Given the description of an element on the screen output the (x, y) to click on. 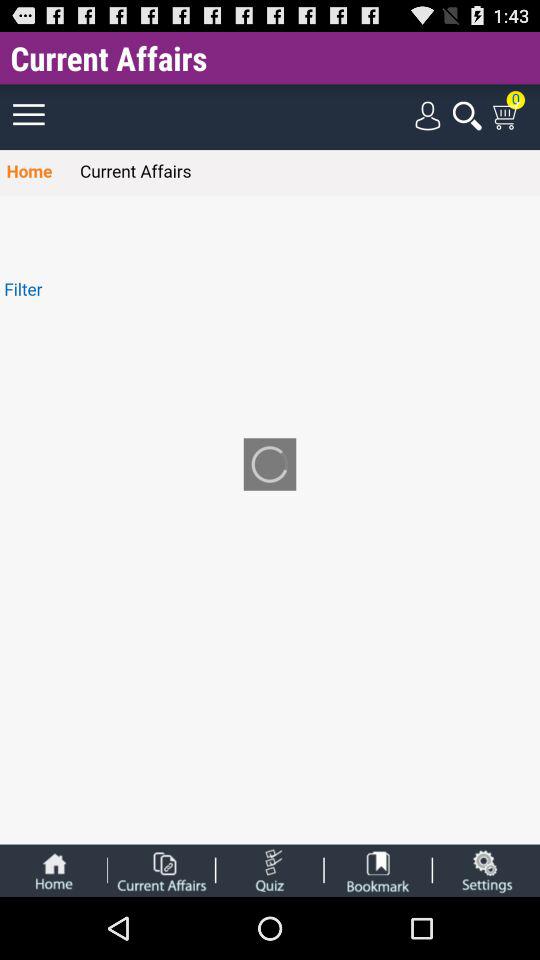
go back (53, 870)
